Given the description of an element on the screen output the (x, y) to click on. 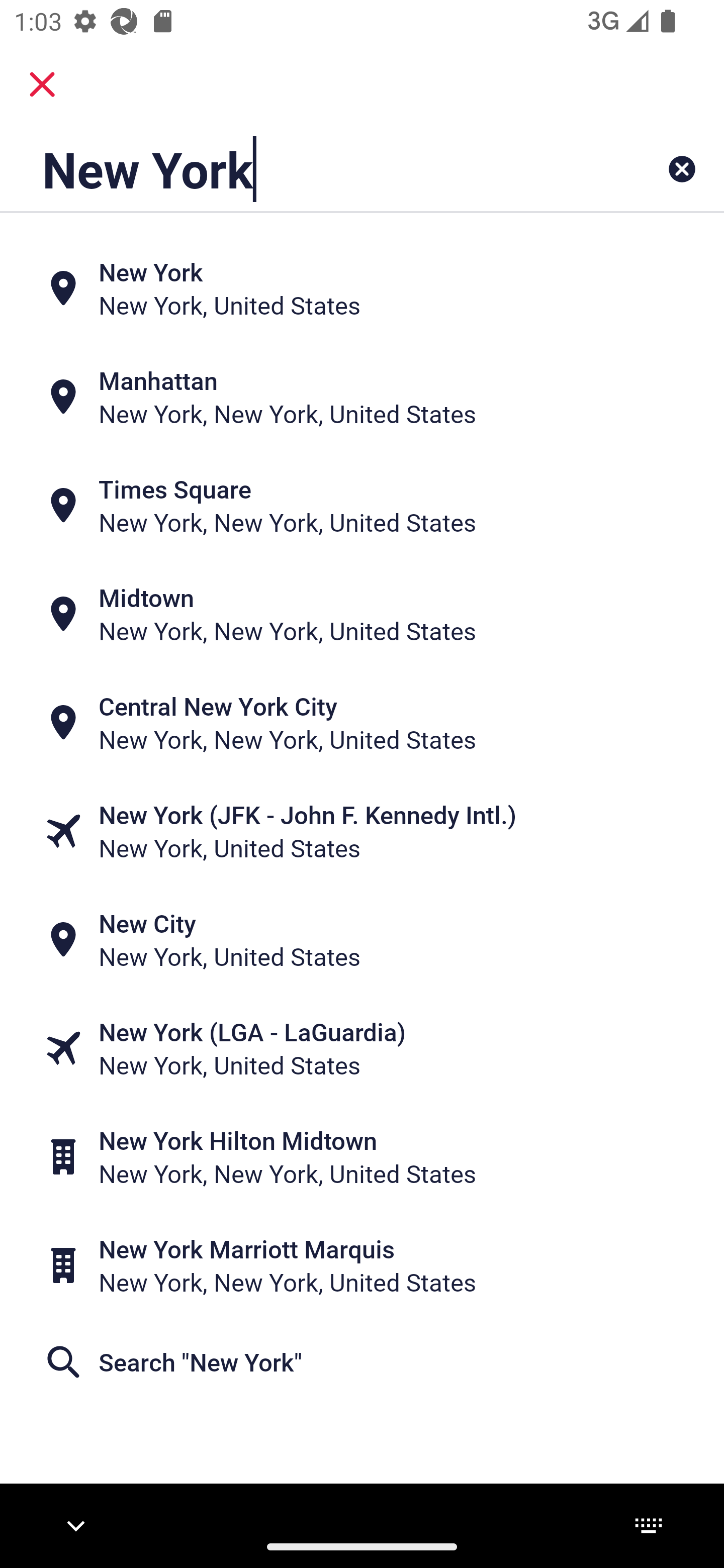
close. (42, 84)
Clear (681, 169)
New York (298, 169)
New York New York, United States (362, 288)
Manhattan New York, New York, United States (362, 397)
Times Square New York, New York, United States (362, 505)
Midtown New York, New York, United States (362, 613)
New City New York, United States (362, 939)
New York (LGA - LaGuardia) New York, United States (362, 1048)
Search "New York" (362, 1362)
